Given the description of an element on the screen output the (x, y) to click on. 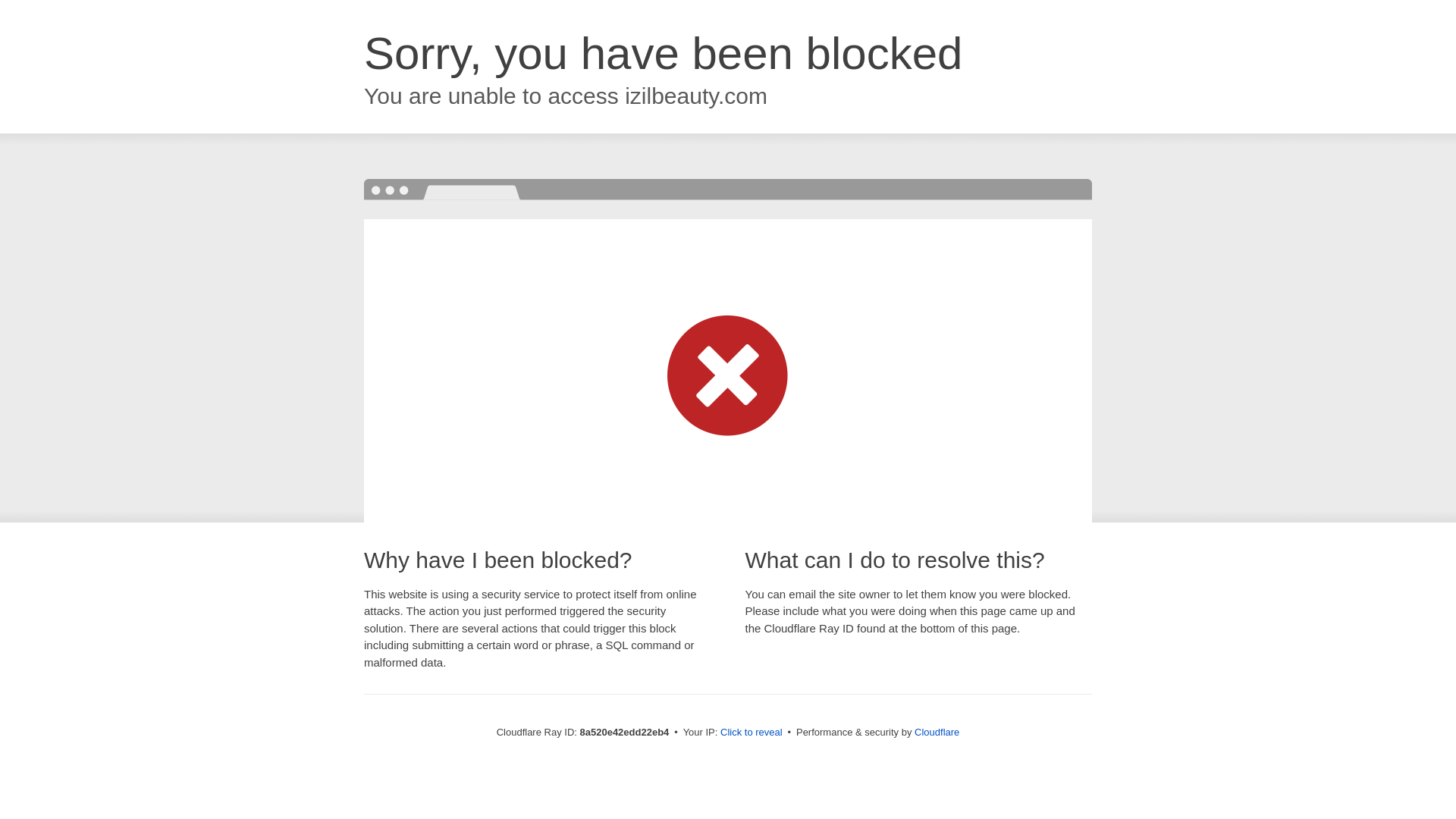
Cloudflare (936, 731)
Click to reveal (751, 732)
